Given the description of an element on the screen output the (x, y) to click on. 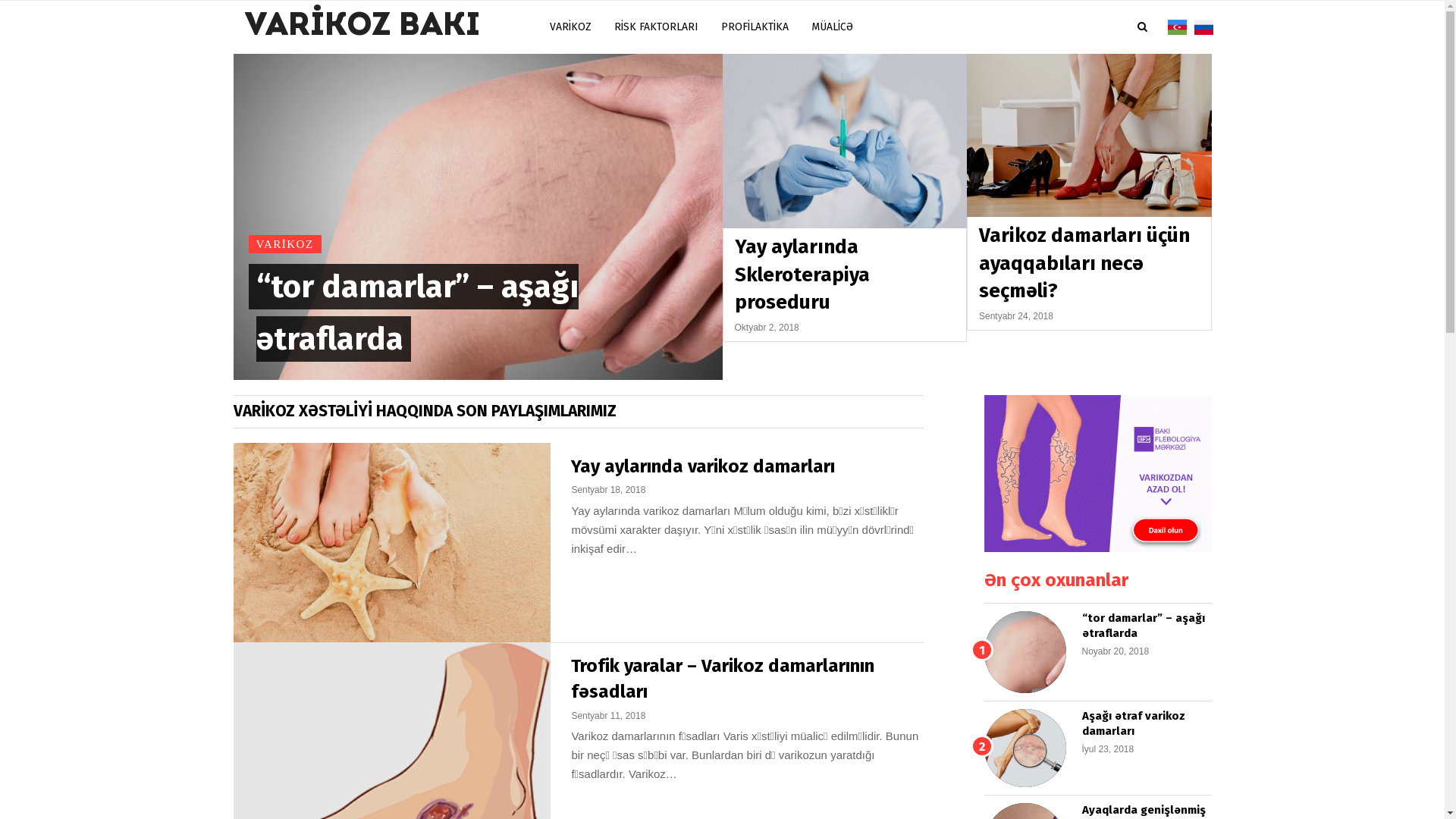
VARIKOZ Element type: text (570, 27)
RISK FAKTORLARI Element type: text (655, 27)
VARIKOZ BAKI Element type: text (361, 26)
PROFILAKTIKA Element type: text (754, 27)
VARIKOZ Element type: text (284, 244)
